Given the description of an element on the screen output the (x, y) to click on. 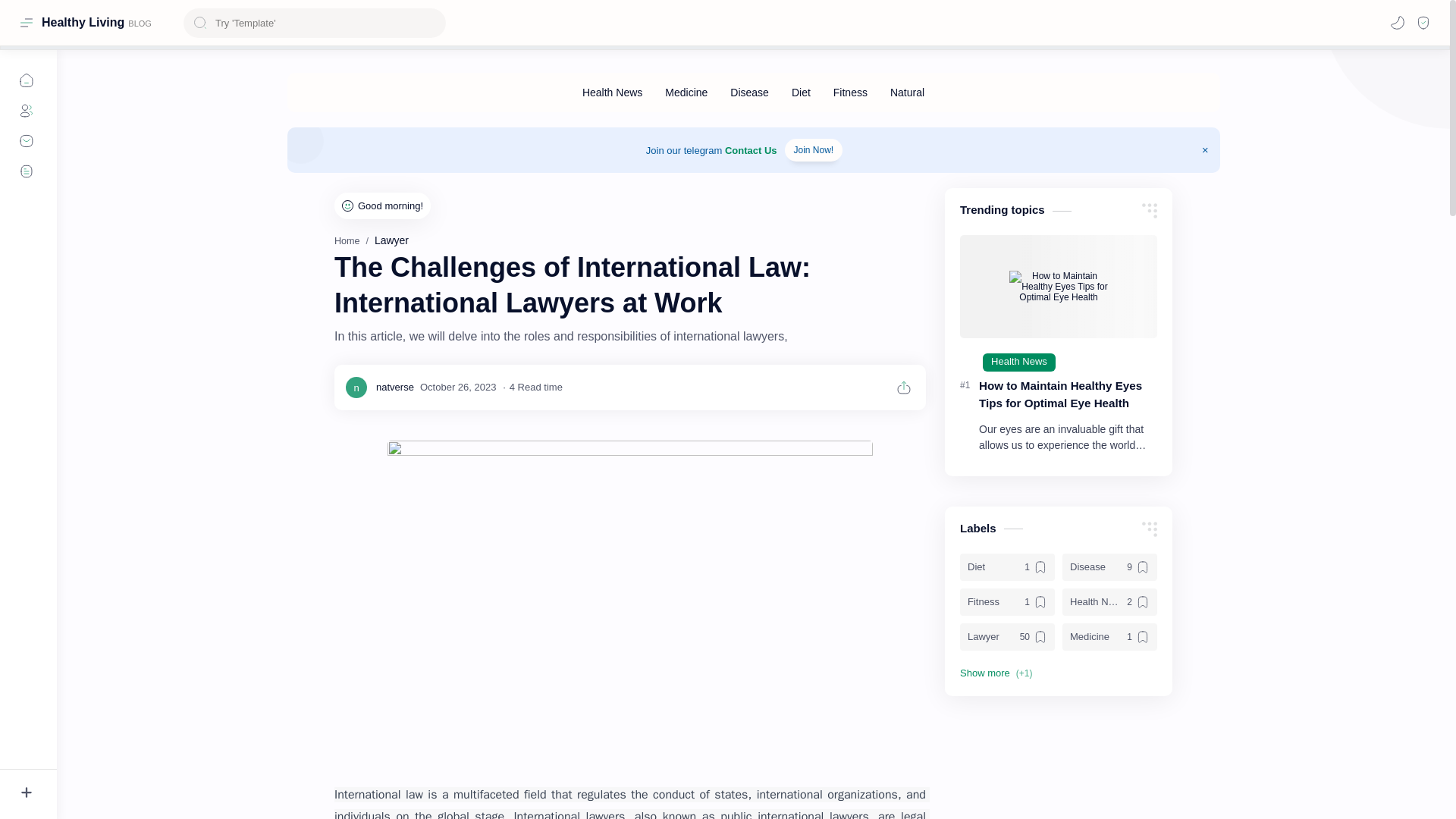
Healthy Living (82, 22)
Contact Us (751, 149)
Published: October 26, 2023 (458, 387)
Join Now! (813, 149)
Home (346, 240)
Lawyer (391, 240)
